Given the description of an element on the screen output the (x, y) to click on. 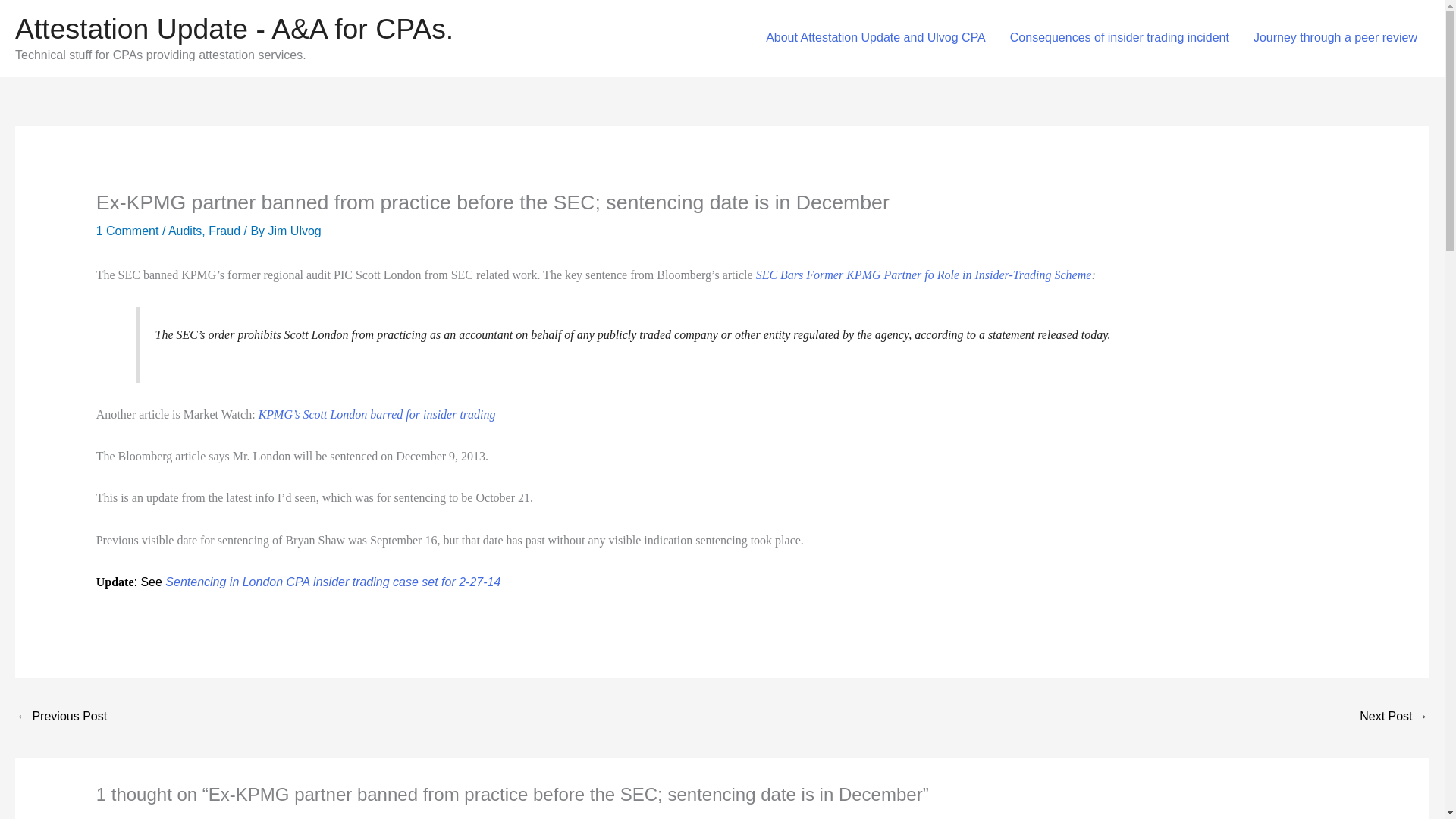
1 Comment (127, 230)
About Attestation Update and Ulvog CPA (875, 37)
First hint of increased turnover in CPA firms (61, 717)
Audits (185, 230)
Jim Ulvog (294, 230)
View all posts by Jim Ulvog (294, 230)
Consequences of insider trading incident (1119, 37)
Journey through a peer review (1335, 37)
SSARS exposure drafts approved (1393, 717)
Fraud (224, 230)
